Given the description of an element on the screen output the (x, y) to click on. 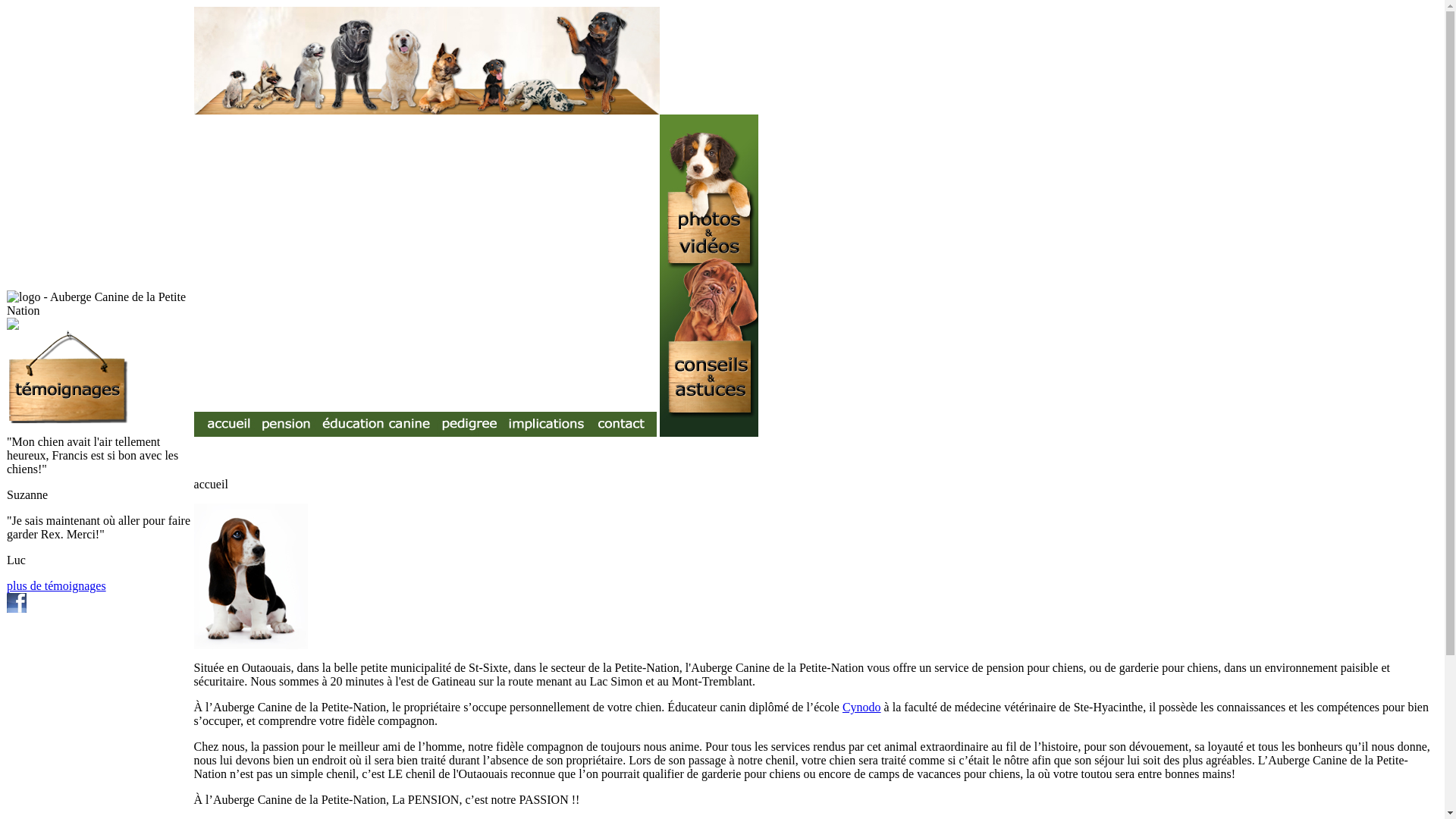
Cynodo Element type: text (861, 706)
